Given the description of an element on the screen output the (x, y) to click on. 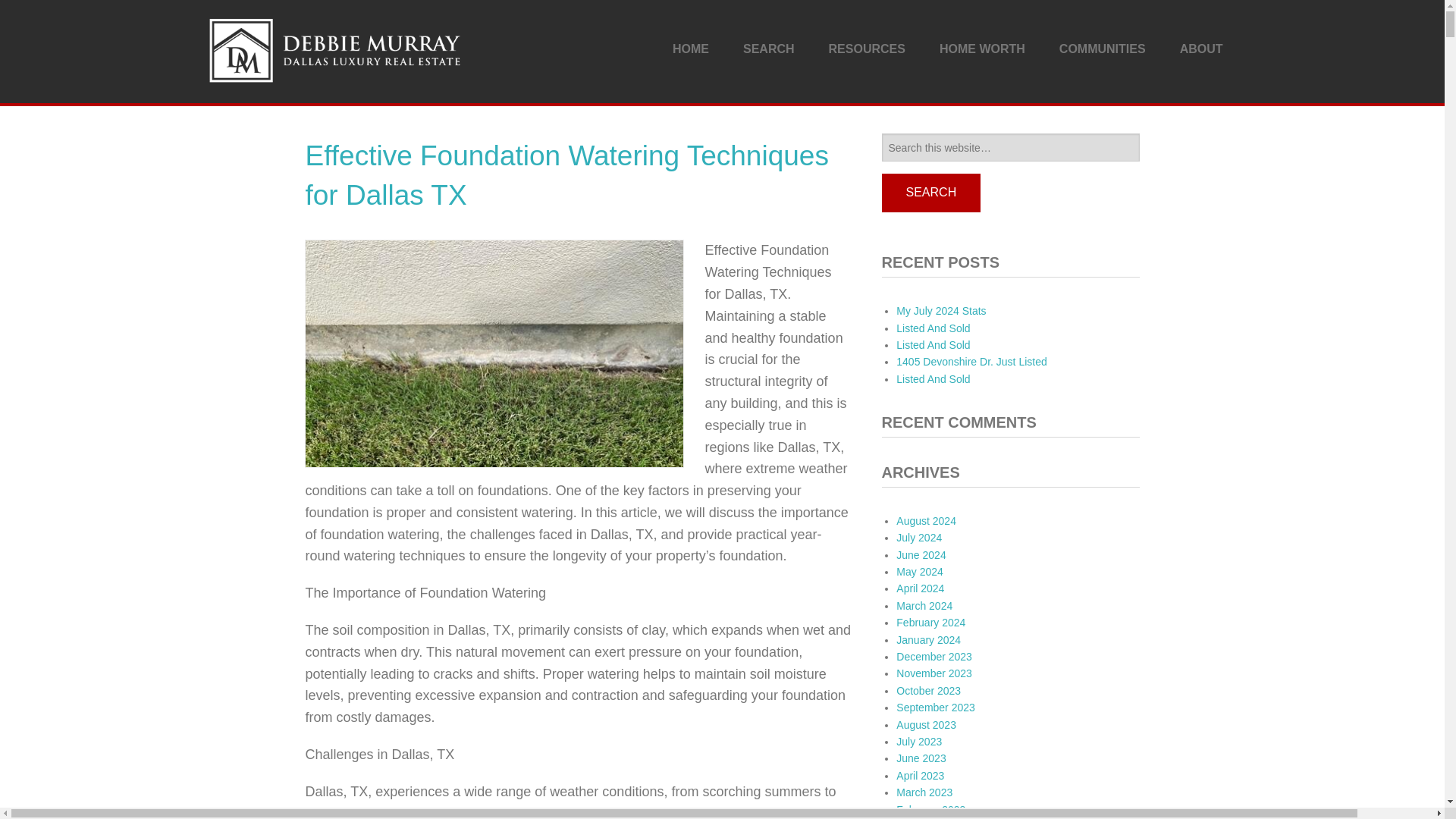
RESOURCES (866, 49)
ABOUT (1201, 49)
Effective Foundation Watering Techniques for Dallas TX (566, 175)
HOME WORTH (982, 49)
HOME (690, 49)
COMMUNITIES (1101, 49)
Dallas Realtor (335, 48)
SEARCH (768, 49)
Effective Foundation Watering Techniques for Dallas TX (566, 175)
Search (929, 192)
